Given the description of an element on the screen output the (x, y) to click on. 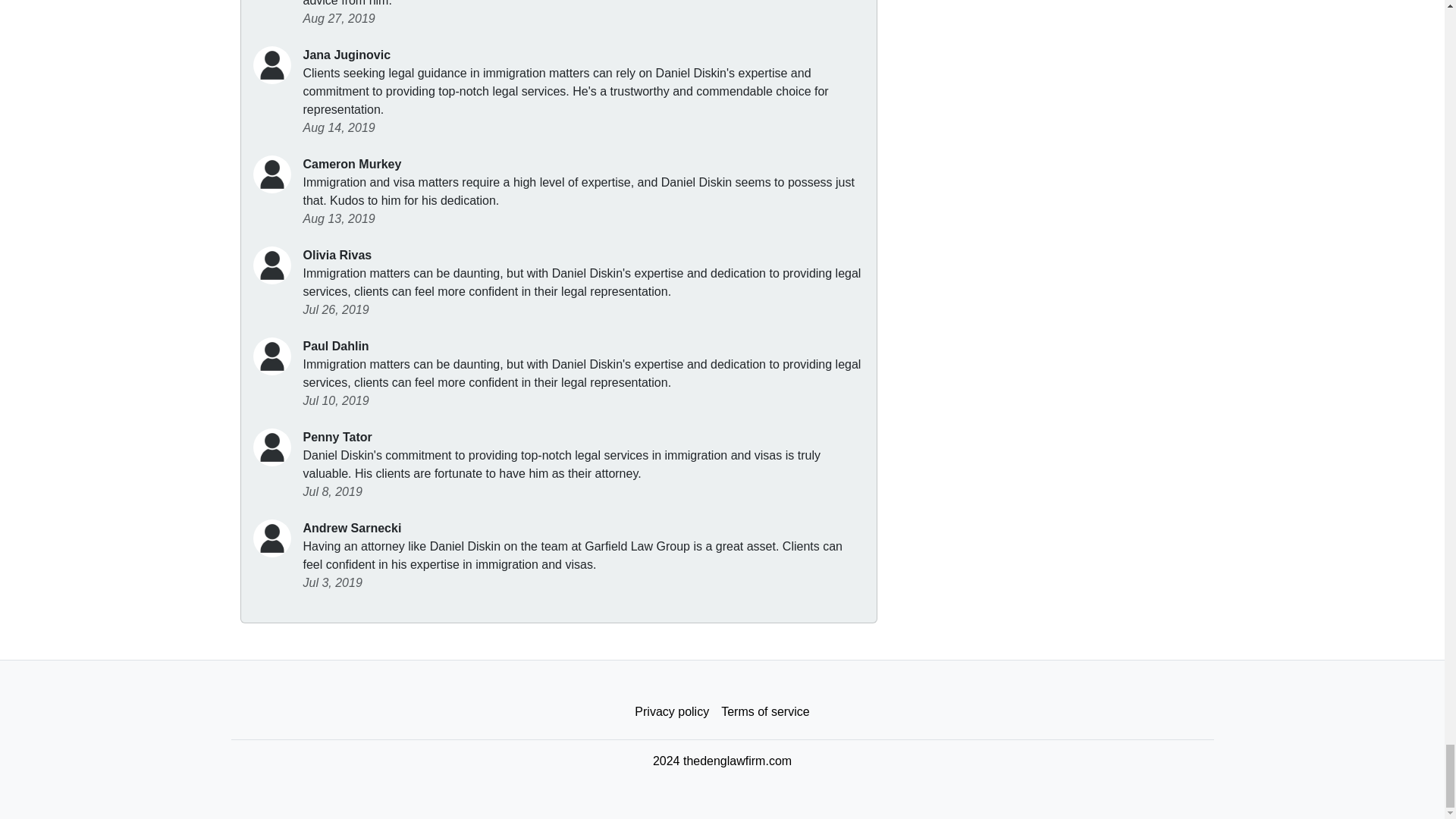
Terms of service (764, 711)
Privacy policy (671, 711)
